Given the description of an element on the screen output the (x, y) to click on. 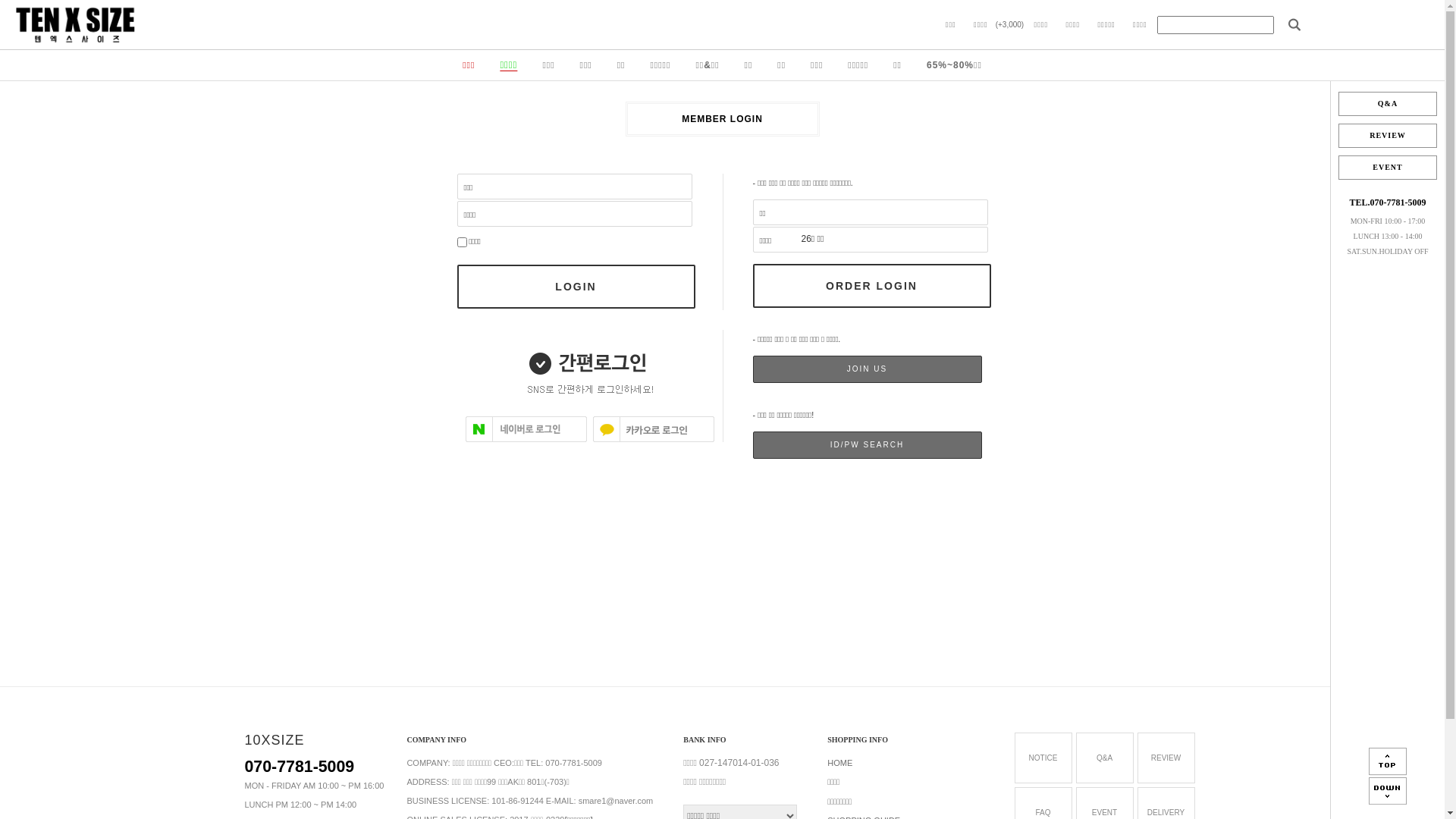
REVIEW Element type: text (1165, 757)
BOOKMARK Element type: text (1387, 18)
EVENT Element type: text (1387, 167)
Q&A Element type: text (1387, 103)
ID/PW SEARCH Element type: text (866, 444)
REVIEW Element type: text (1387, 135)
NOTICE Element type: text (1042, 757)
ORDER LOGIN Element type: text (871, 285)
HOME Element type: text (839, 762)
Q&A Element type: text (1104, 757)
LOGIN Element type: text (575, 286)
JOIN US Element type: text (866, 368)
